Given the description of an element on the screen output the (x, y) to click on. 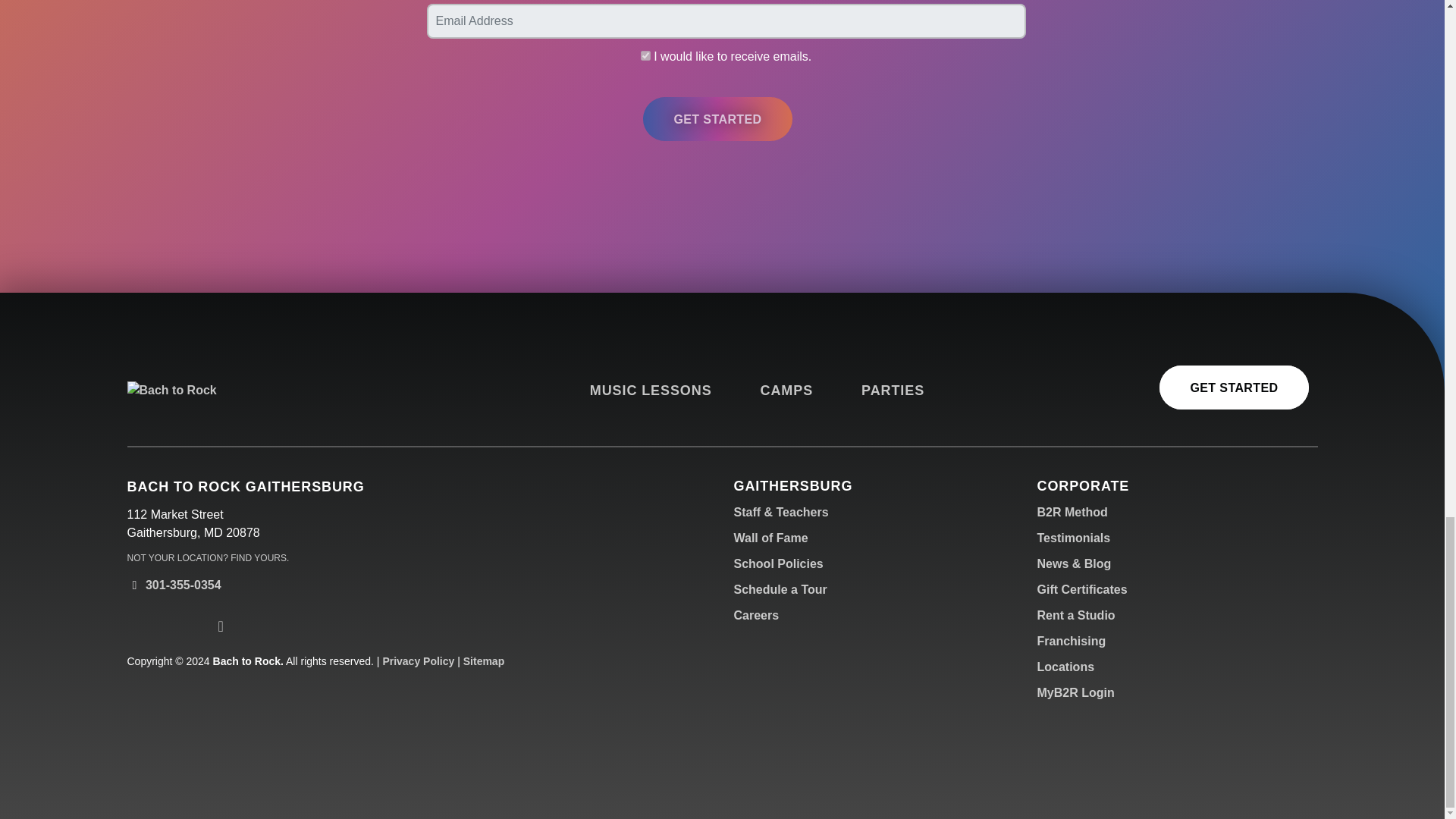
Get Started (717, 118)
Bach to Rock (241, 390)
one (645, 55)
